Given the description of an element on the screen output the (x, y) to click on. 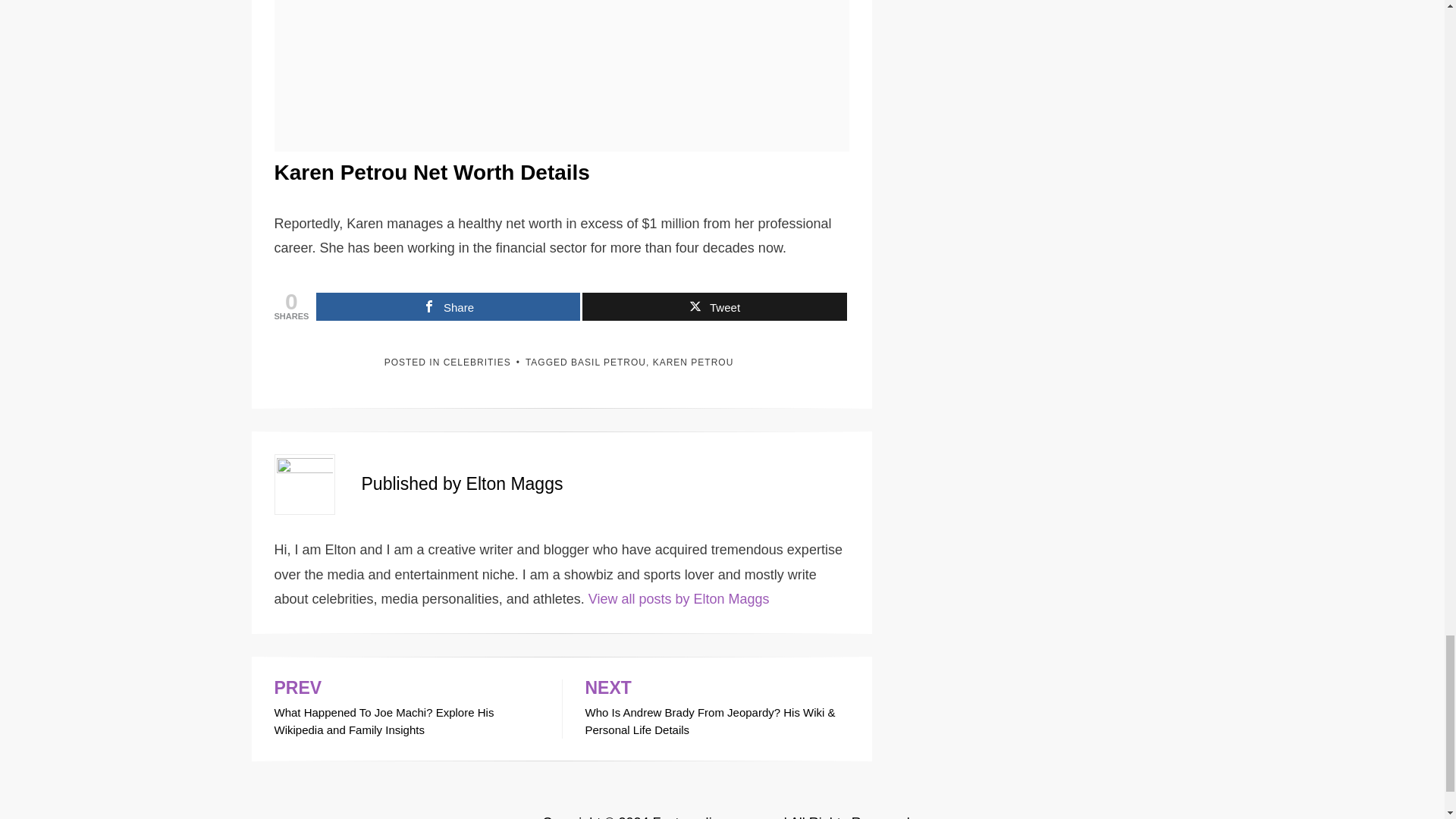
BASIL PETROU (608, 362)
CELEBRITIES (477, 362)
Share (447, 306)
View all posts by Elton Maggs (679, 598)
KAREN PETROU (692, 362)
Tweet (713, 306)
